Given the description of an element on the screen output the (x, y) to click on. 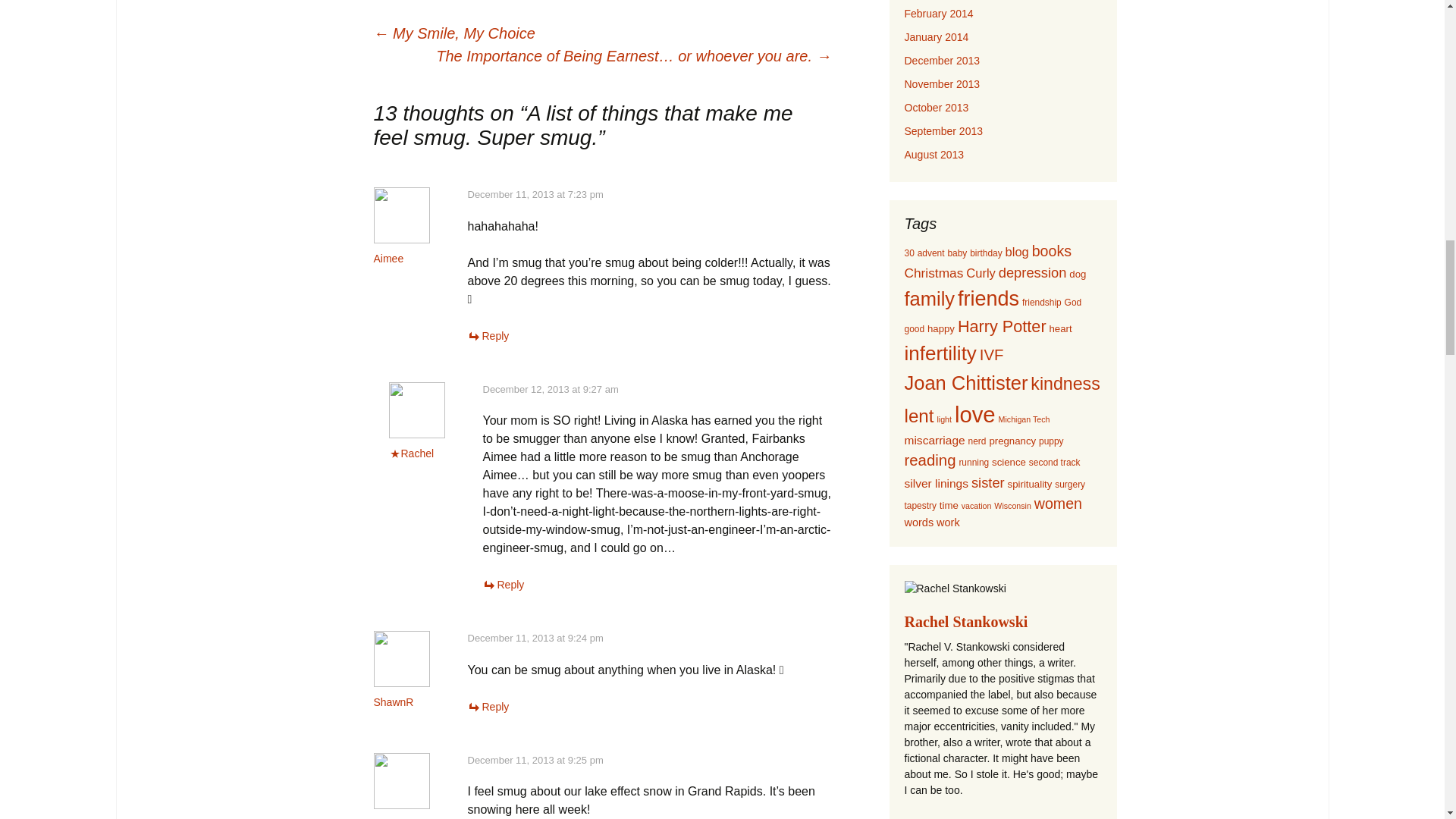
Reply (502, 584)
Reply (487, 706)
December 11, 2013 at 9:25 pm (534, 759)
December 11, 2013 at 7:23 pm (534, 194)
Reply (487, 336)
December 11, 2013 at 9:24 pm (534, 637)
December 12, 2013 at 9:27 am (549, 389)
Rachel (416, 453)
